Given the description of an element on the screen output the (x, y) to click on. 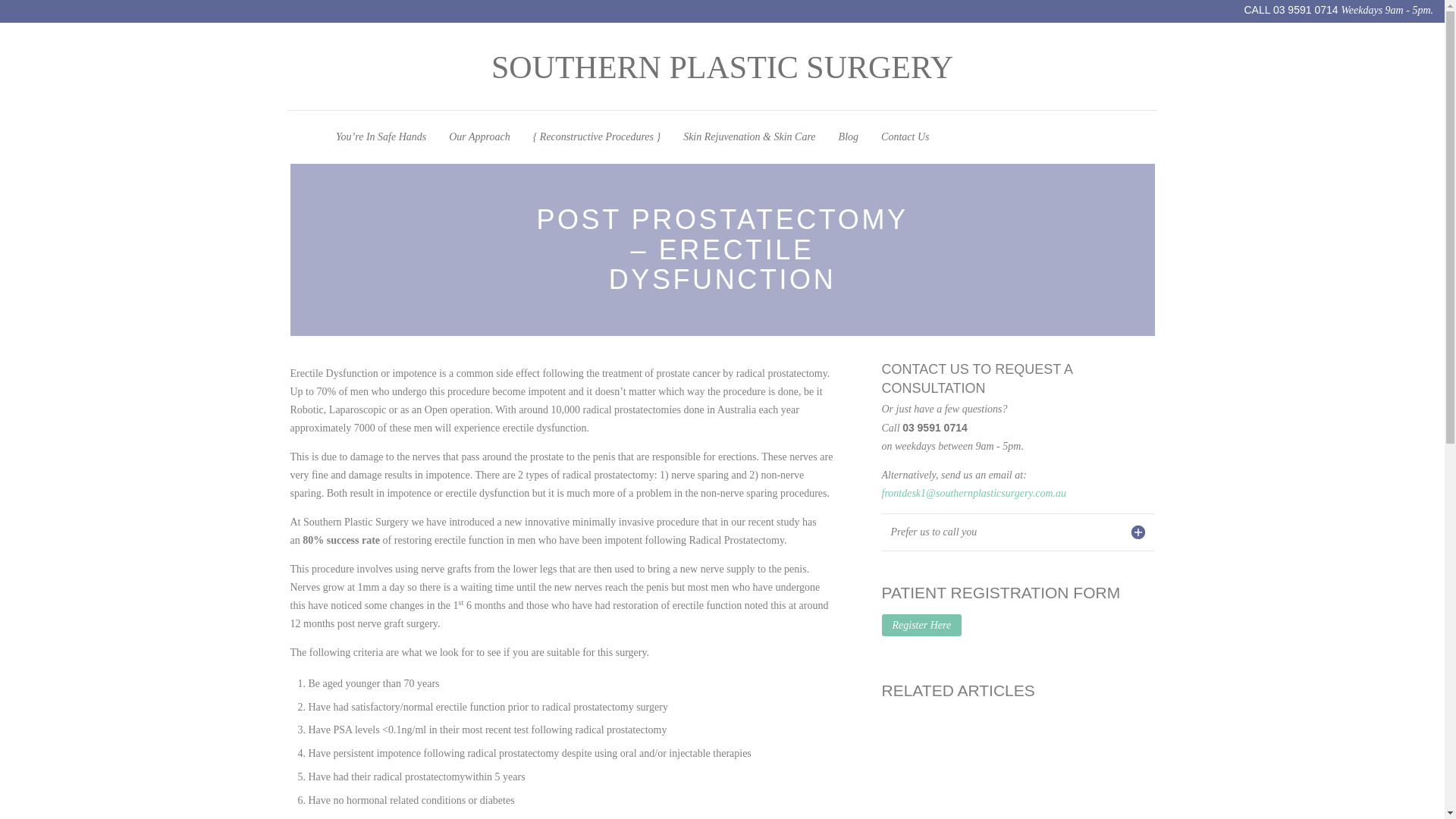
Patient Registration (920, 625)
SOUTHERN PLASTIC SURGERY (722, 67)
You're In Safe Hands (381, 136)
Reconstructive Procedures (596, 136)
Register Here (920, 625)
Blog (848, 136)
Reconstructive Procedures (596, 136)
Contact Us (904, 136)
Blog (848, 136)
Our Approach (479, 136)
Our Approach (479, 136)
Contact Us (904, 136)
